Given the description of an element on the screen output the (x, y) to click on. 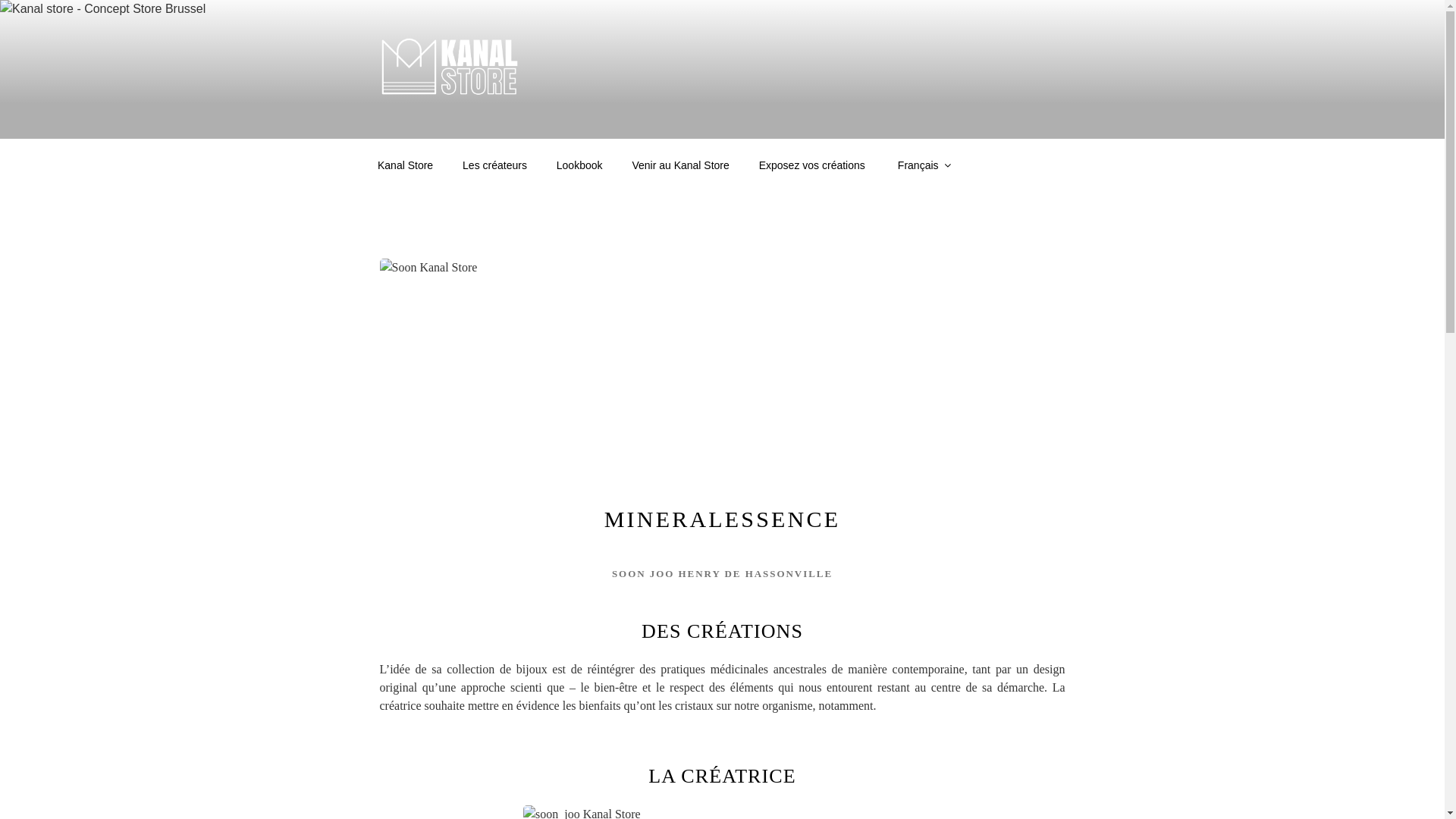
Venir au Kanal Store Element type: text (680, 165)
Lookbook Element type: text (578, 165)
Aller au contenu principal Element type: text (0, 0)
Kanal Store Element type: text (404, 165)
